Given the description of an element on the screen output the (x, y) to click on. 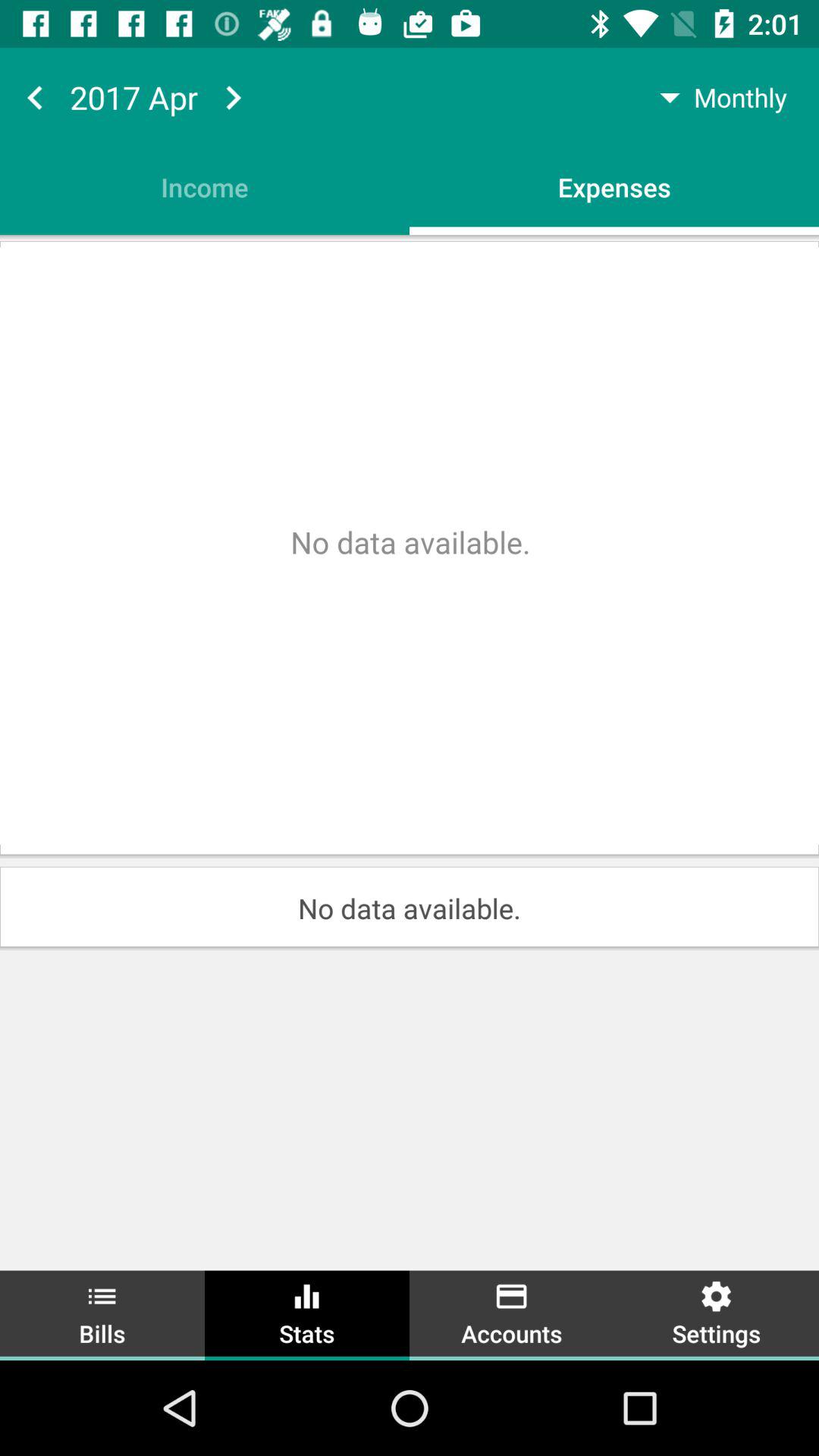
go to next (232, 97)
